Given the description of an element on the screen output the (x, y) to click on. 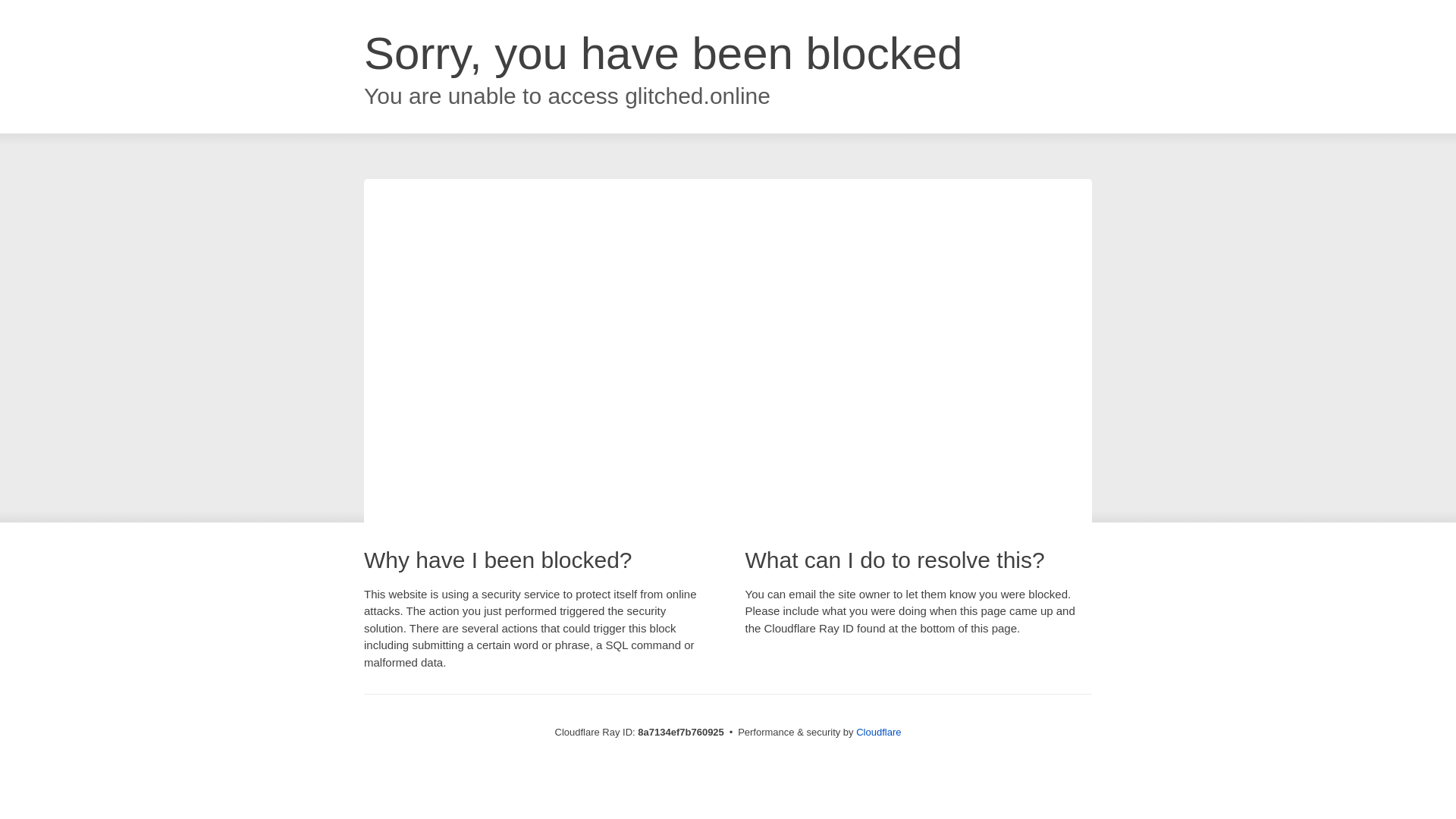
Cloudflare (878, 731)
